Given the description of an element on the screen output the (x, y) to click on. 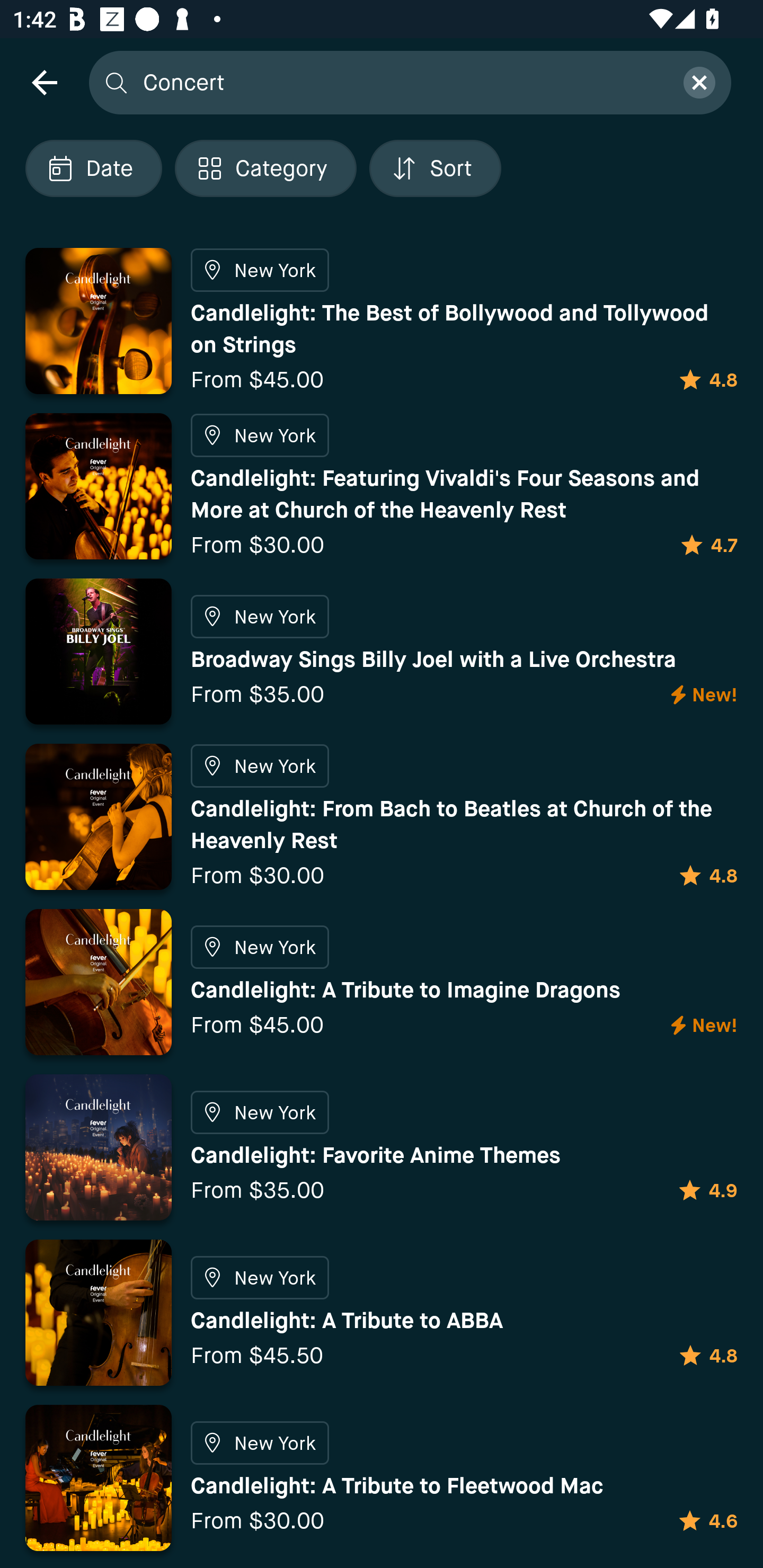
navigation icon (44, 81)
Concert (402, 81)
Localized description Date (93, 168)
Localized description Category (265, 168)
Localized description Sort (435, 168)
